Given the description of an element on the screen output the (x, y) to click on. 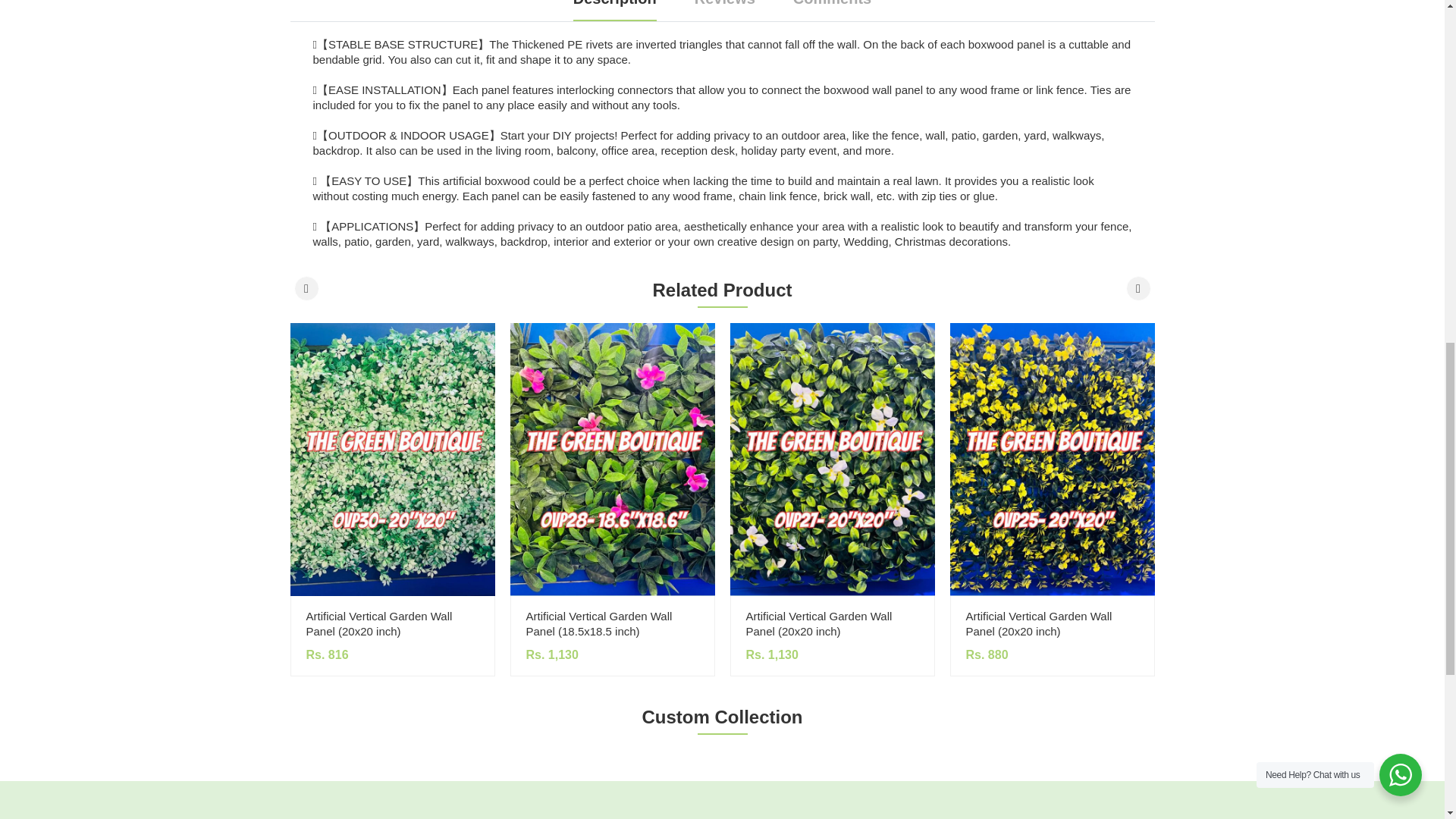
Description (614, 10)
Reviews (724, 10)
